Given the description of an element on the screen output the (x, y) to click on. 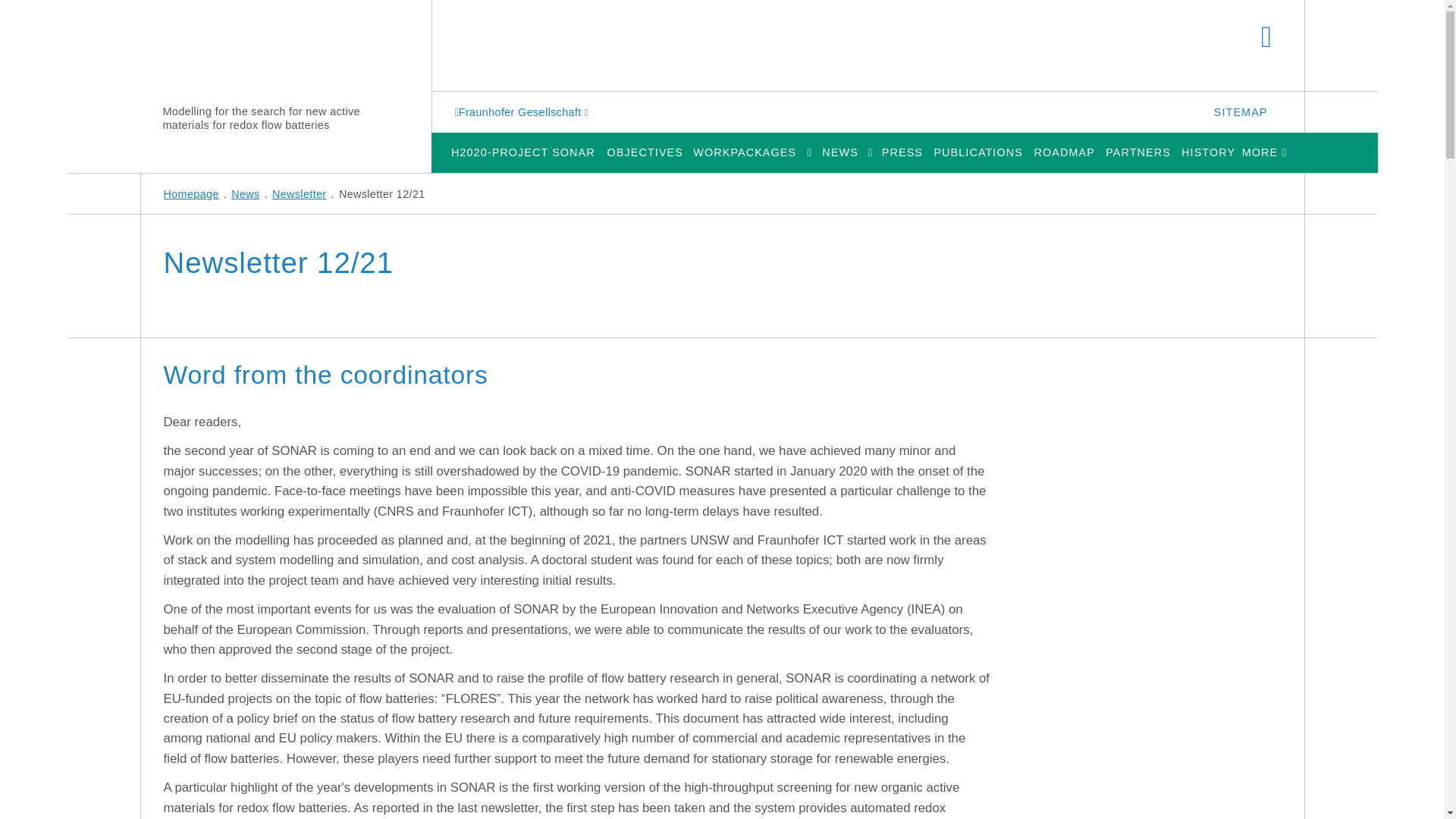
News (245, 193)
Fraunhofer Gesellschaft (523, 111)
H2020-PROJECT SONAR (522, 151)
OBJECTIVES (644, 151)
HISTORY (1208, 151)
WORKPACKAGES (744, 151)
PUBLICATIONS (978, 151)
PRESS (902, 151)
ROADMAP (1063, 151)
